Given the description of an element on the screen output the (x, y) to click on. 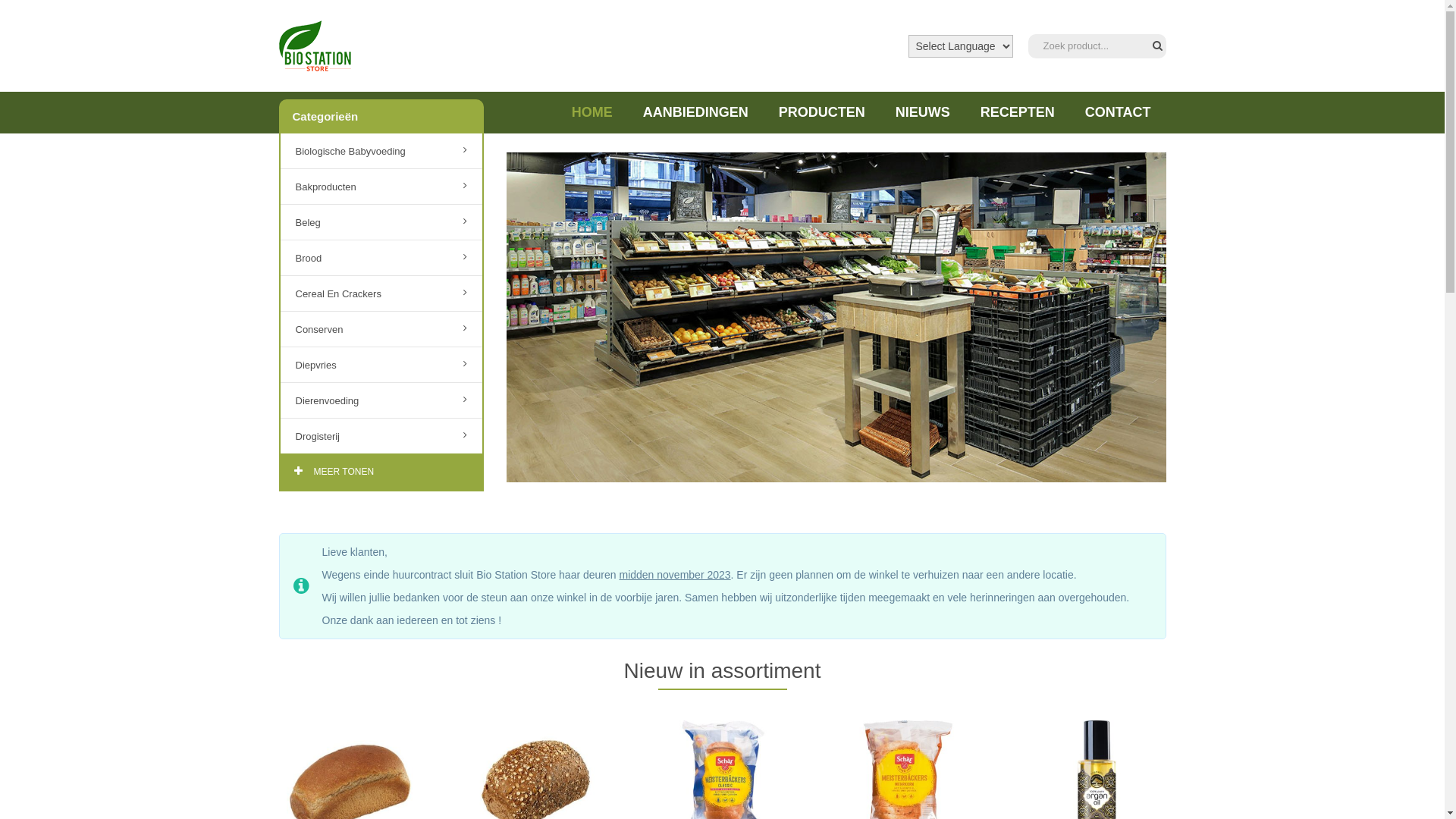
CONTACT Element type: text (1118, 112)
Brood Element type: text (381, 258)
Glutenvrij Element type: text (381, 471)
Beleg Element type: text (381, 222)
Biologische Babyvoeding Element type: text (381, 151)
AANBIEDINGEN Element type: text (695, 112)
Cereal En Crackers Element type: text (381, 293)
Conserven Element type: text (381, 329)
HOME Element type: text (591, 112)
NIEUWS Element type: text (922, 112)
Drogisterij Element type: text (381, 436)
PRODUCTEN Element type: text (821, 112)
RECEPTEN Element type: text (1017, 112)
Diepvries Element type: text (381, 364)
Bakproducten Element type: text (381, 186)
Dierenvoeding Element type: text (381, 400)
